Given the description of an element on the screen output the (x, y) to click on. 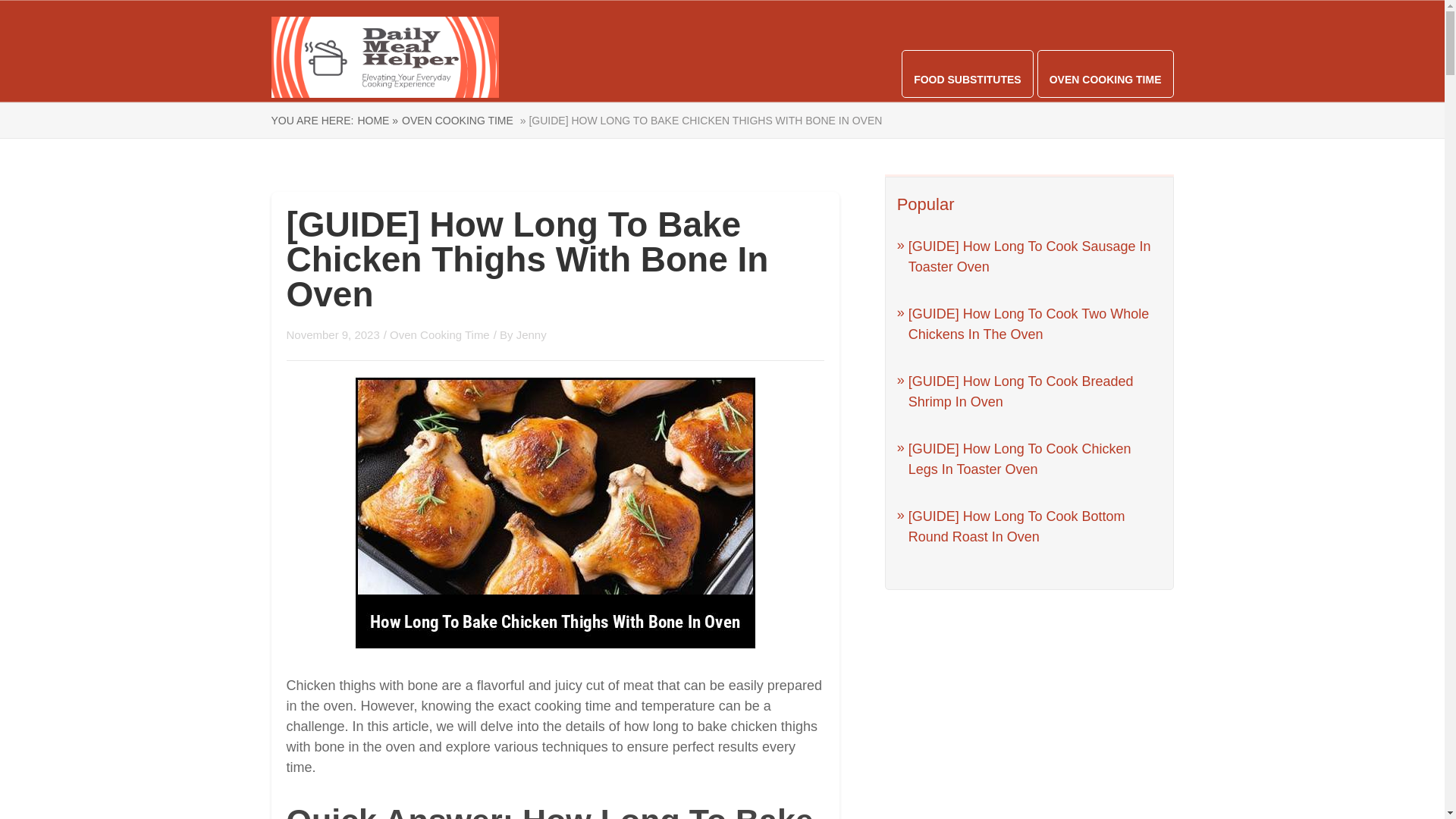
OVEN COOKING TIME (457, 120)
Jenny (531, 334)
Oven Cooking Time (439, 334)
FOOD SUBSTITUTES (968, 79)
OVEN COOKING TIME (1105, 79)
